Given the description of an element on the screen output the (x, y) to click on. 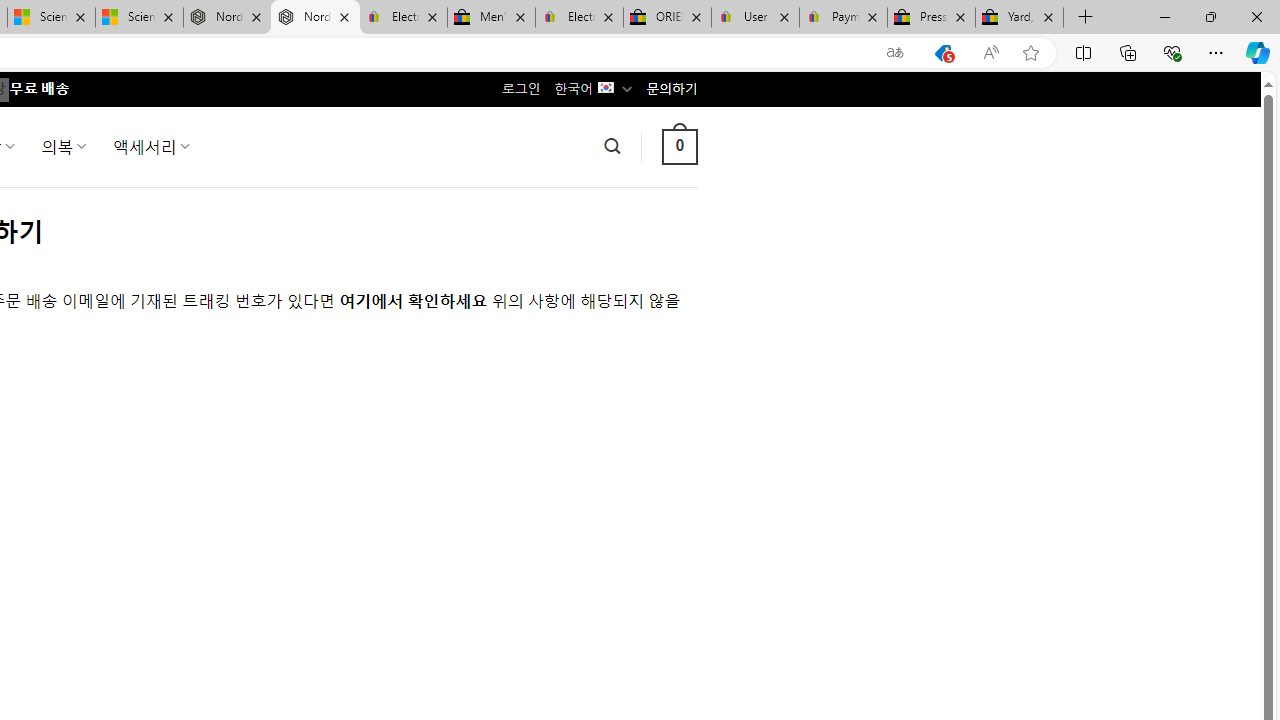
 0  (679, 146)
  0   (679, 146)
User Privacy Notice | eBay (754, 17)
Press Room - eBay Inc. (931, 17)
